Given the description of an element on the screen output the (x, y) to click on. 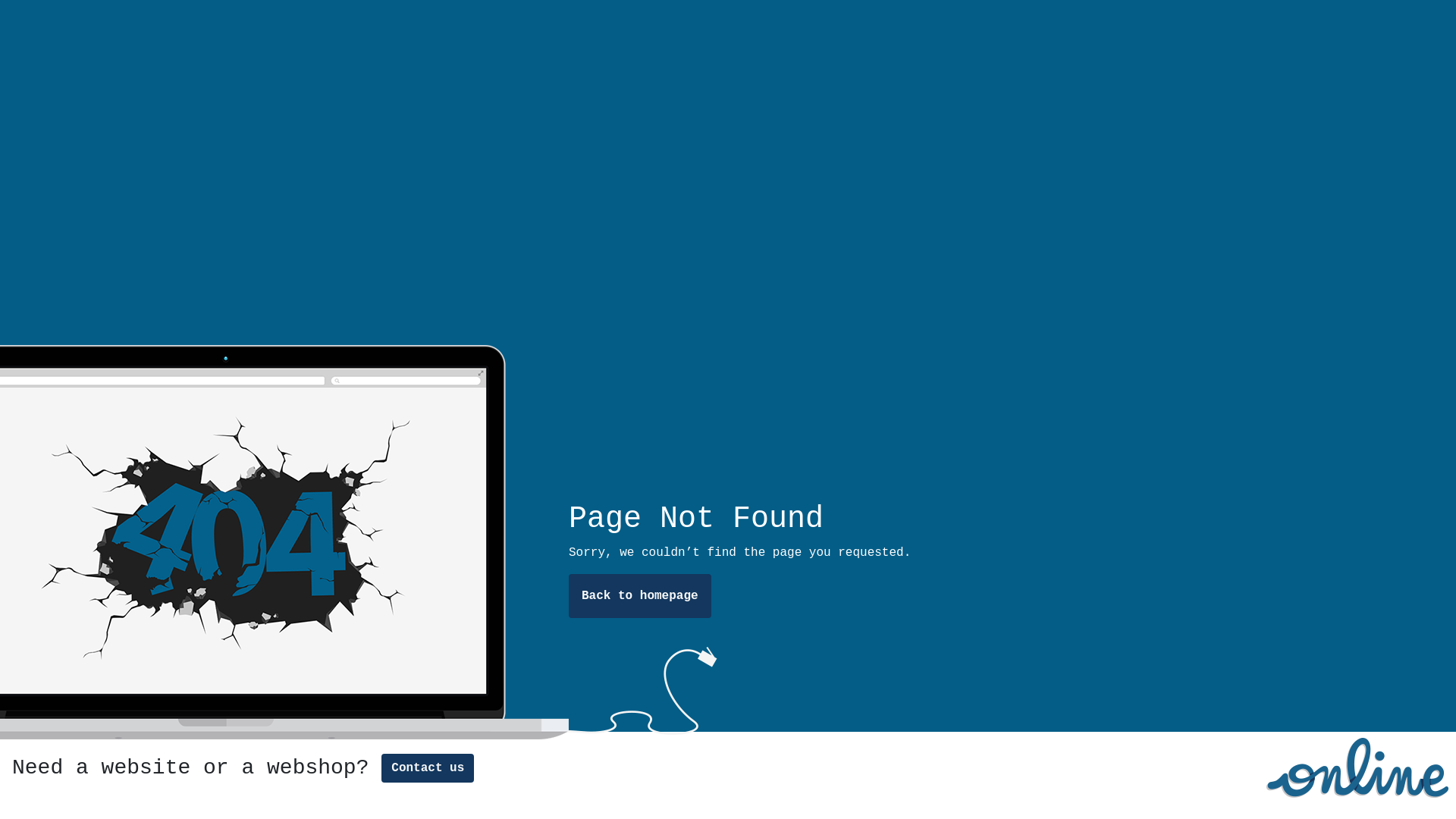
Contact us Element type: text (427, 767)
Back to homepage Element type: text (639, 596)
